Given the description of an element on the screen output the (x, y) to click on. 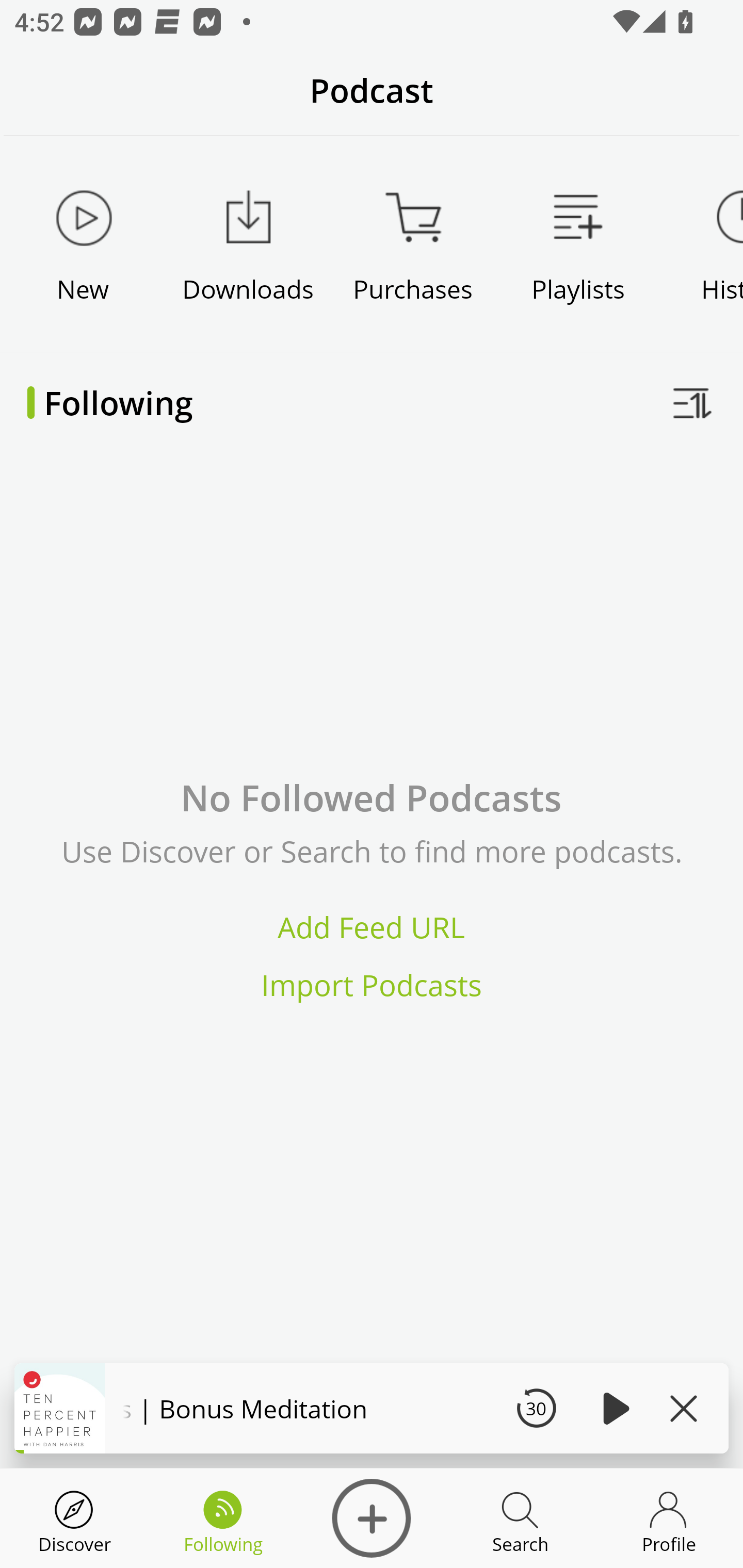
Add Feed URL (371, 927)
Import Podcasts (371, 984)
Play (613, 1407)
30 Seek Backward (536, 1407)
Discover (74, 1518)
Discover (371, 1518)
Discover Search (519, 1518)
Discover Profile (668, 1518)
